Given the description of an element on the screen output the (x, y) to click on. 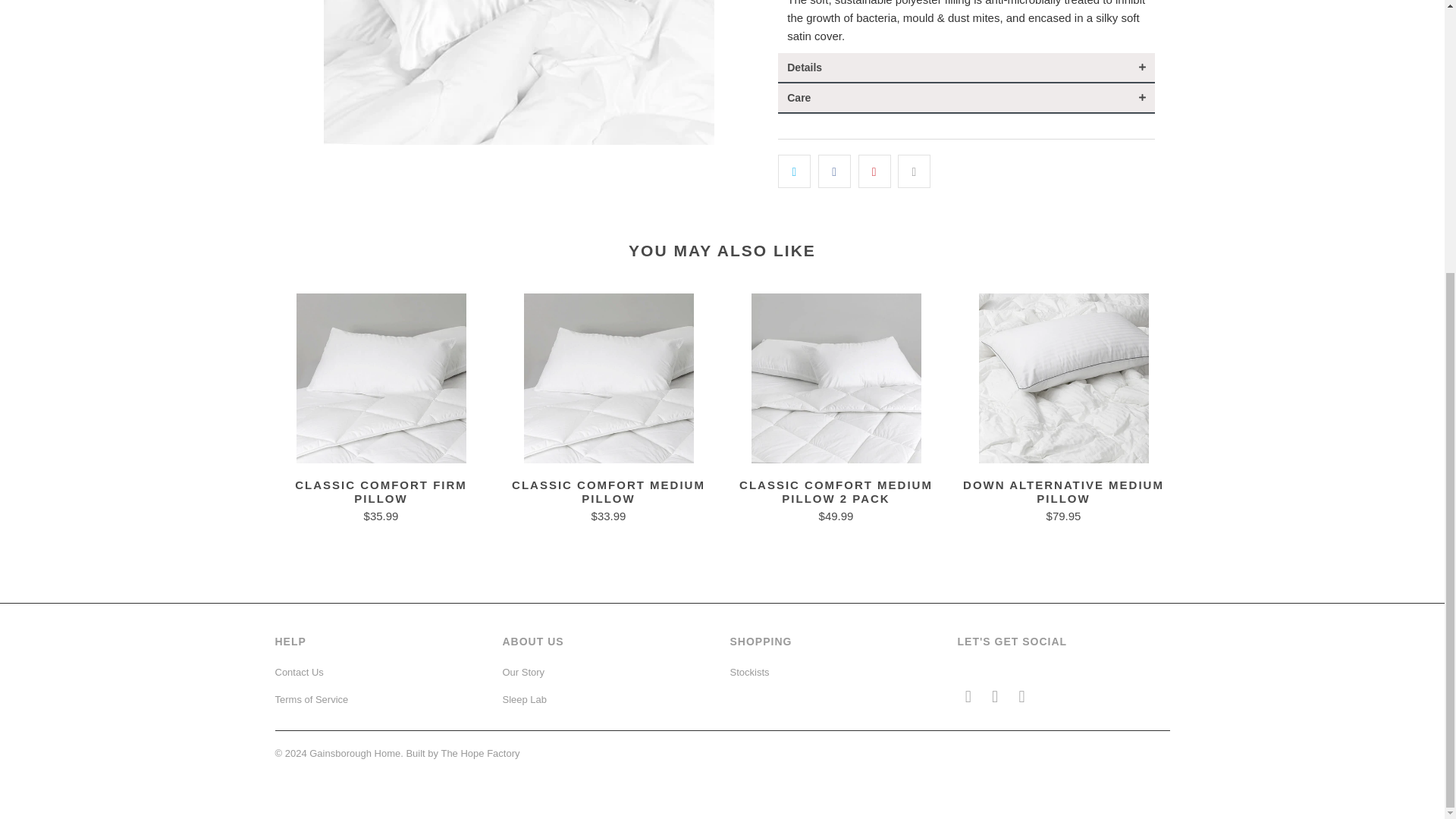
Gainsborough Home on Pinterest (995, 696)
Share this on Twitter (793, 171)
Share this on Facebook (834, 171)
Gainsborough Home on Instagram (1021, 696)
Gainsborough Home on Facebook (967, 696)
Share this on Pinterest (875, 171)
Email this to a friend (914, 171)
